Given the description of an element on the screen output the (x, y) to click on. 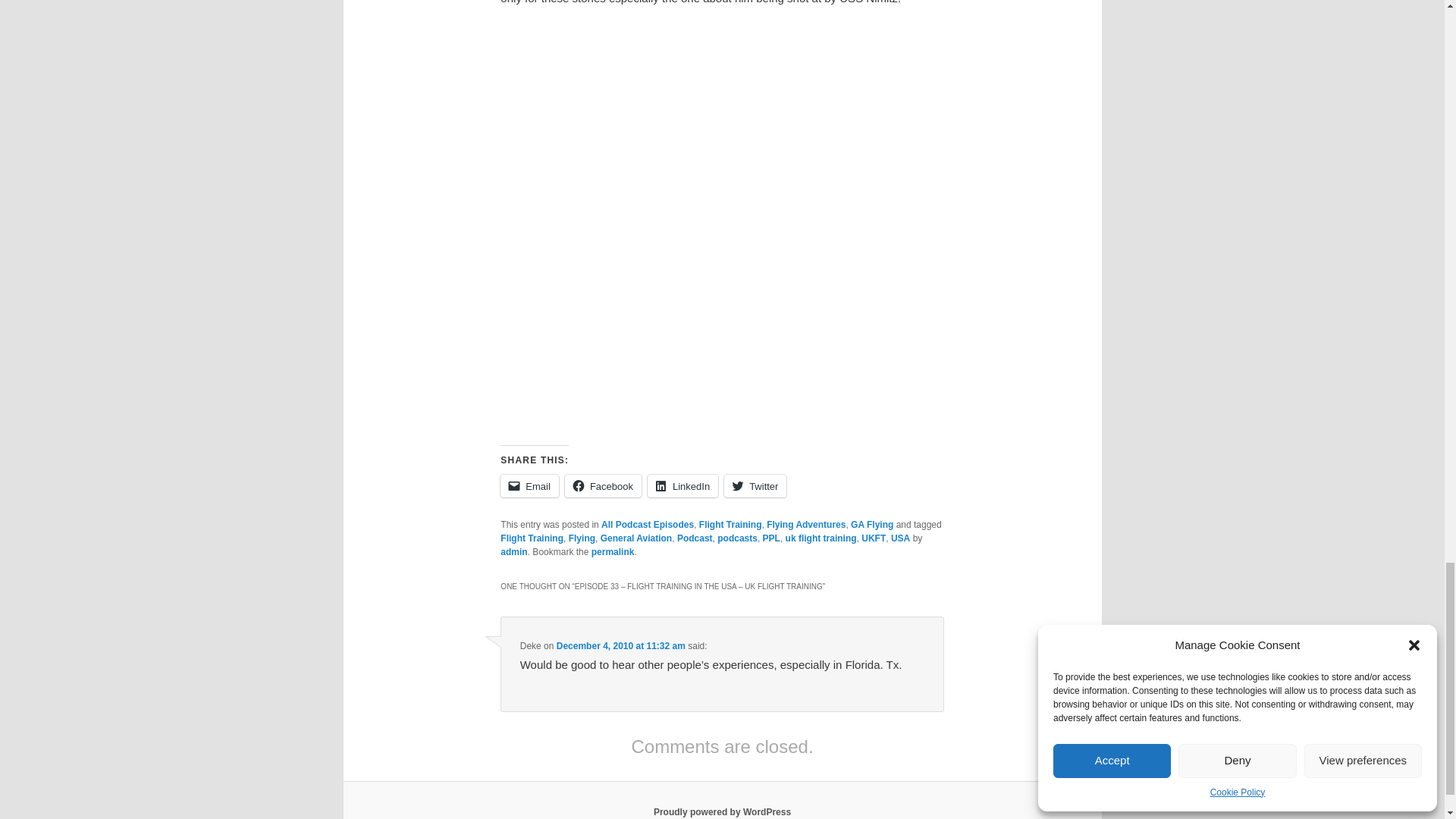
Click to share on Facebook (603, 486)
Click to share on LinkedIn (682, 486)
Click to email a link to a friend (529, 486)
Semantic Personal Publishing Platform (721, 811)
Click to share on Twitter (754, 486)
